Given the description of an element on the screen output the (x, y) to click on. 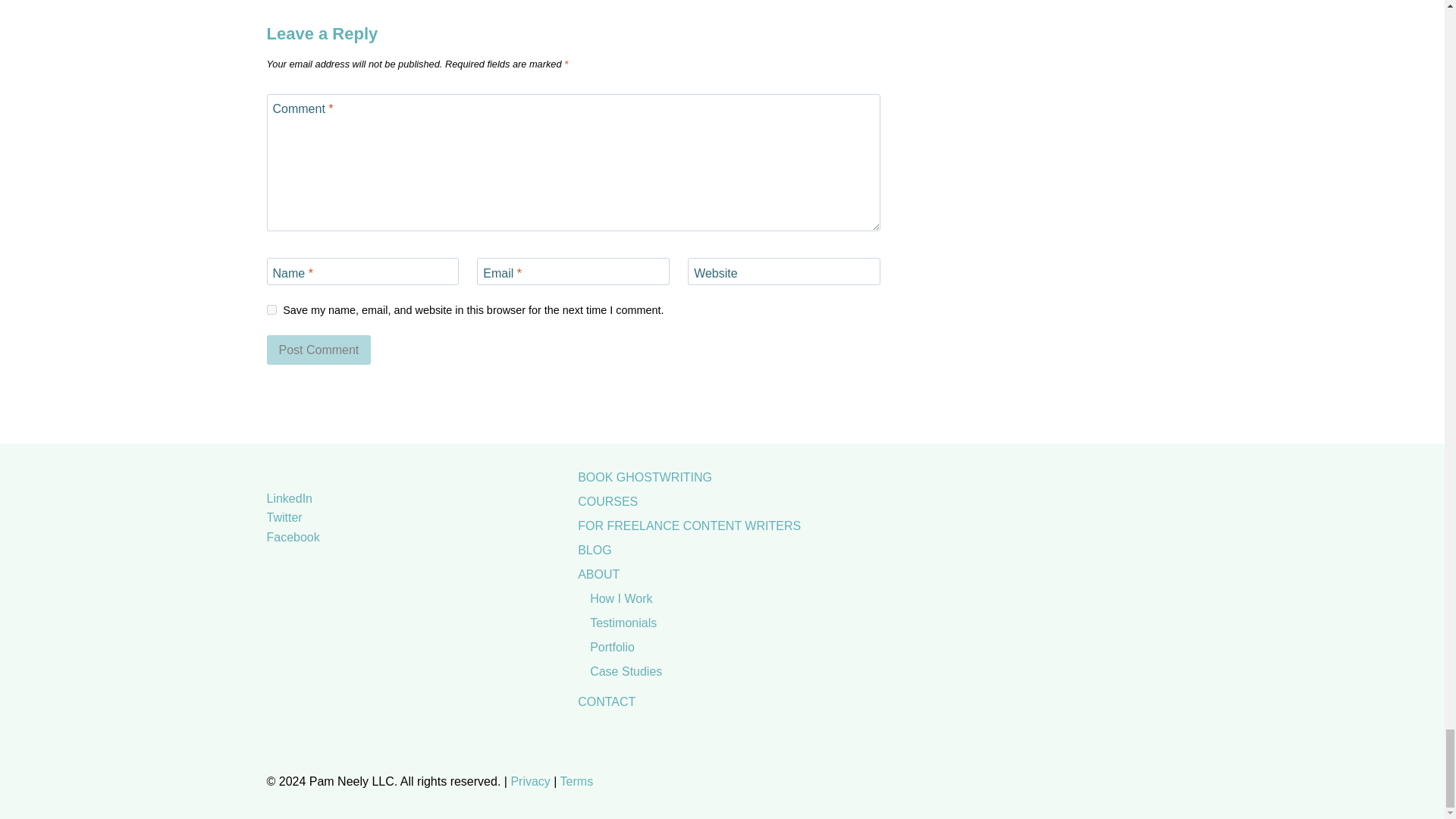
Post Comment (318, 348)
yes (271, 309)
